Given the description of an element on the screen output the (x, y) to click on. 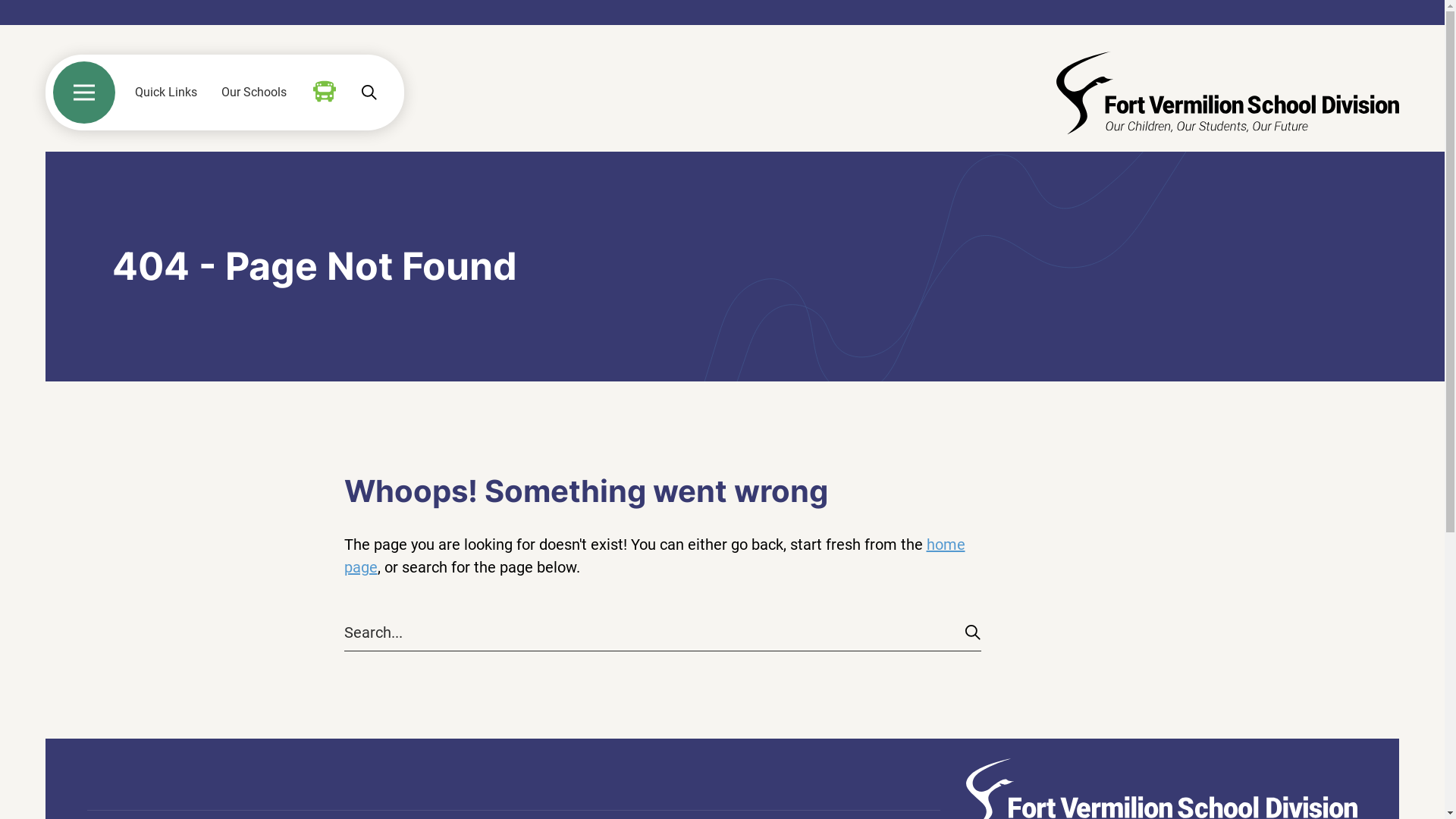
Toggle Search Element type: text (369, 92)
Bus Status Element type: hover (324, 91)
Our Schools Element type: text (253, 92)
Fort Vermilion School Division Element type: hover (1227, 92)
Menu Element type: text (84, 92)
Quick Links Element type: text (165, 92)
home page Element type: text (654, 555)
